Given the description of an element on the screen output the (x, y) to click on. 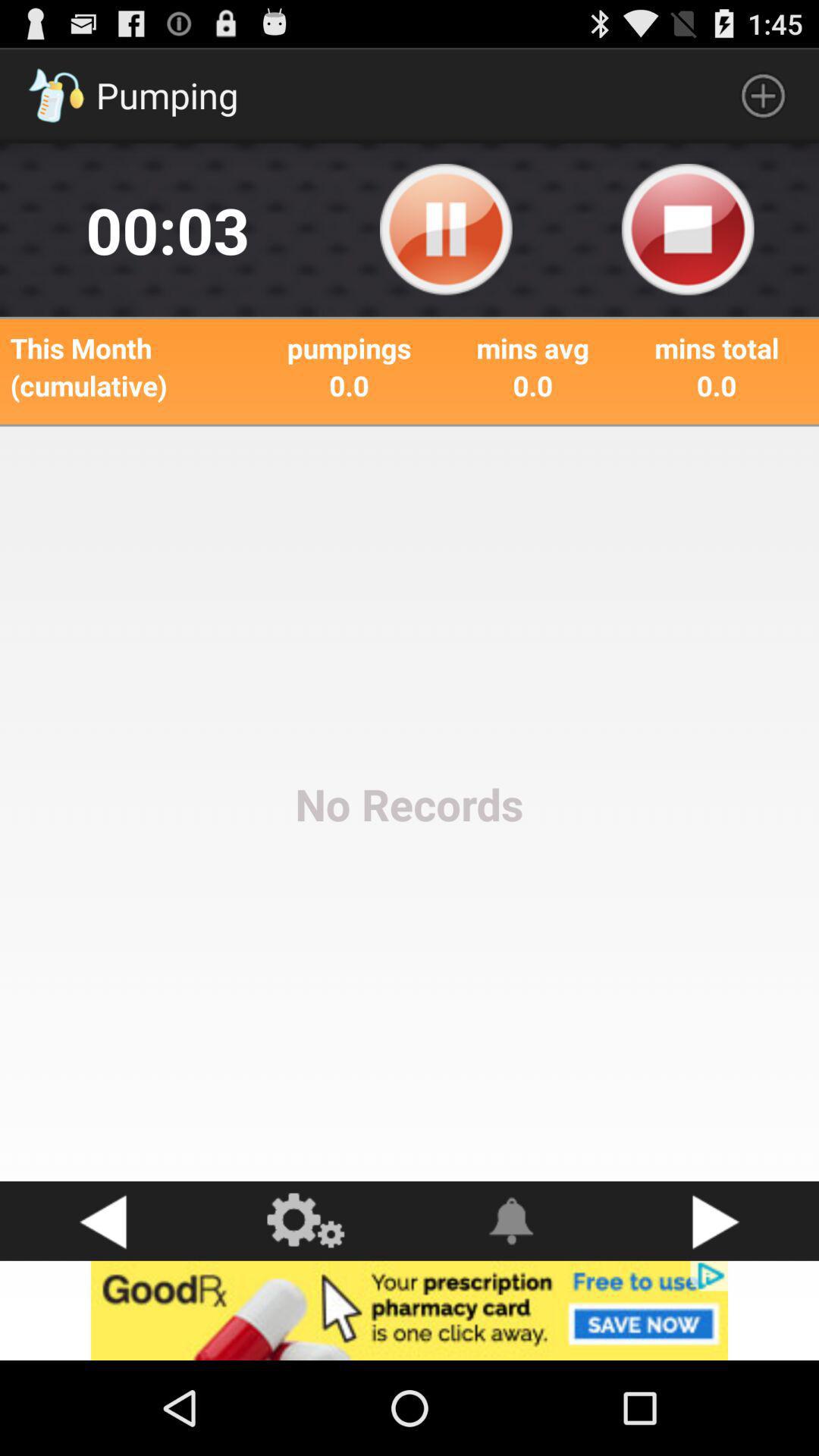
stop the timer (687, 229)
